Given the description of an element on the screen output the (x, y) to click on. 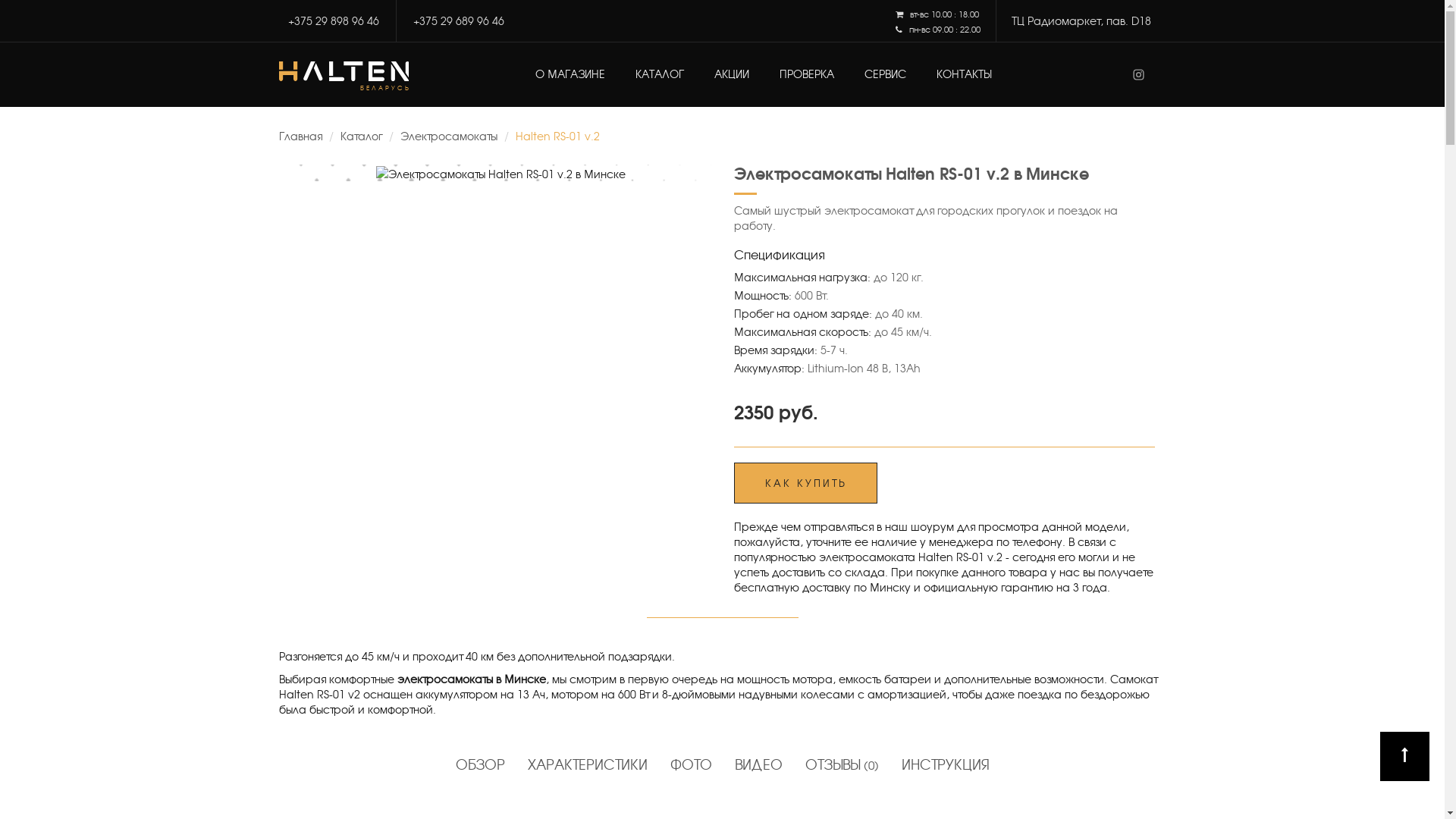
+375 29 898 96 46 Element type: text (333, 20)
+375 29 689 96 46 Element type: text (457, 20)
